Given the description of an element on the screen output the (x, y) to click on. 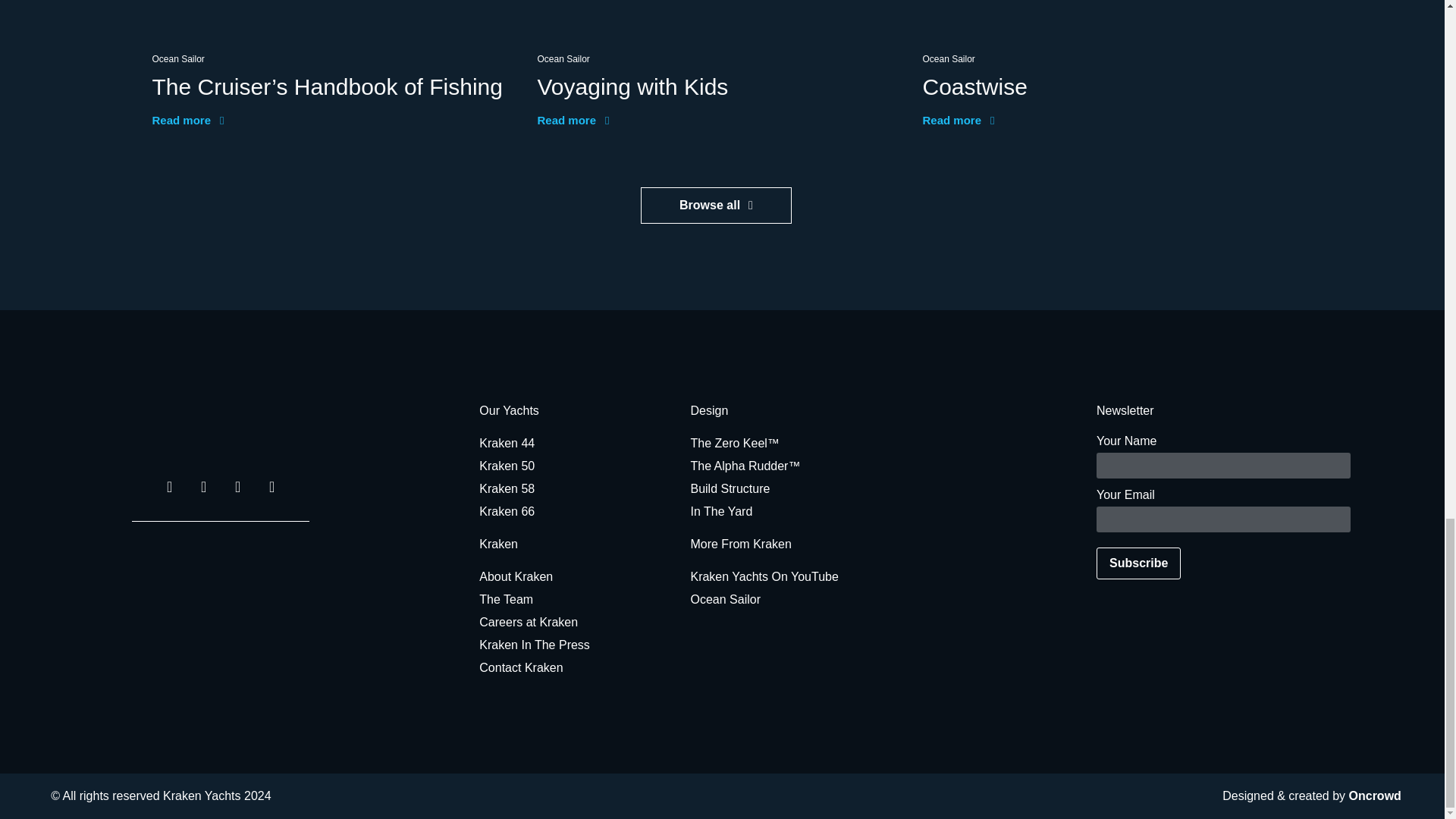
Read more (572, 120)
Read more (187, 120)
Read more (957, 120)
Coastwise (973, 86)
Browse all (716, 205)
Voyaging with Kids (632, 86)
